Given the description of an element on the screen output the (x, y) to click on. 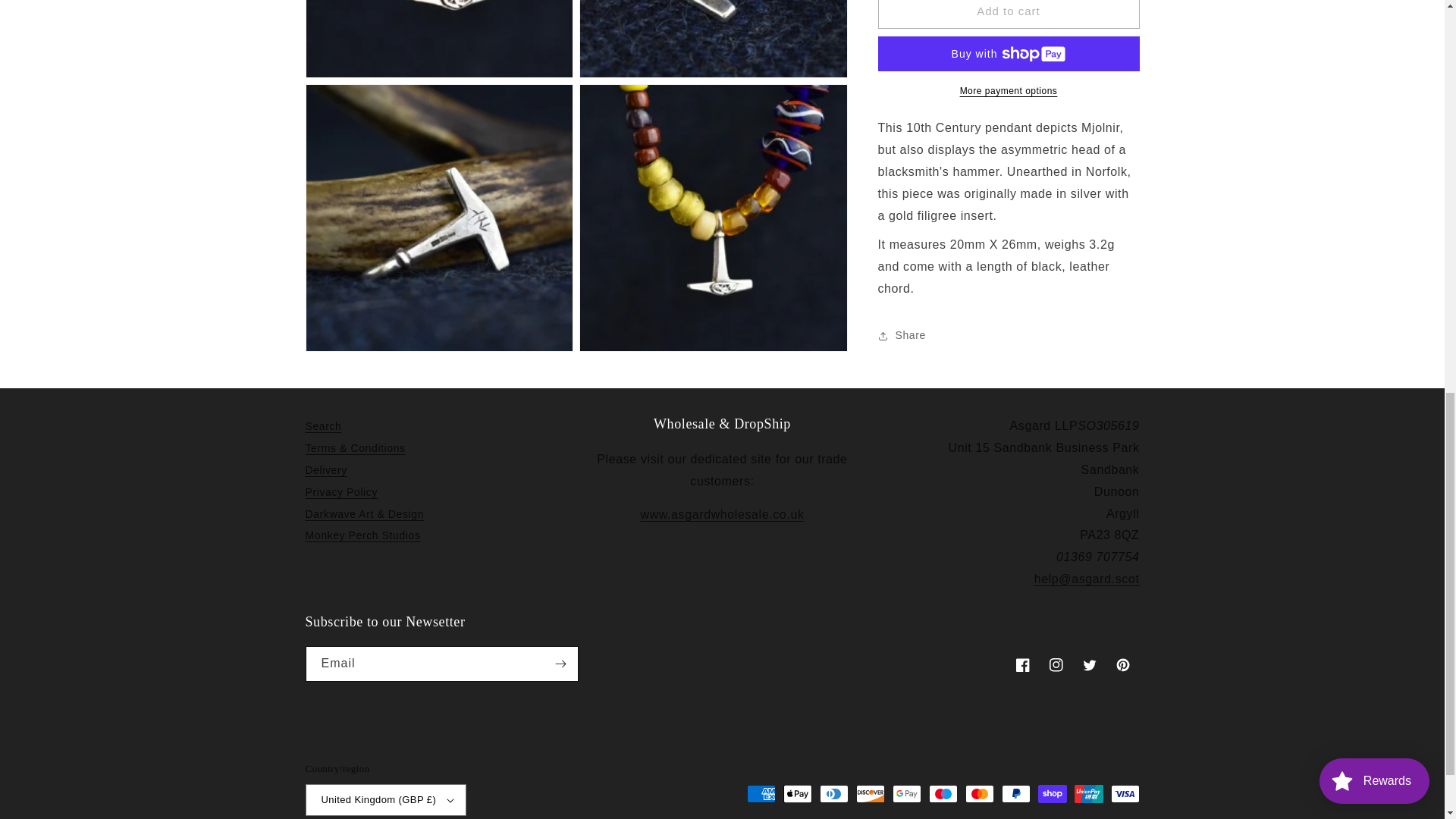
www.asgardwholesale.co.uk (721, 513)
